Given the description of an element on the screen output the (x, y) to click on. 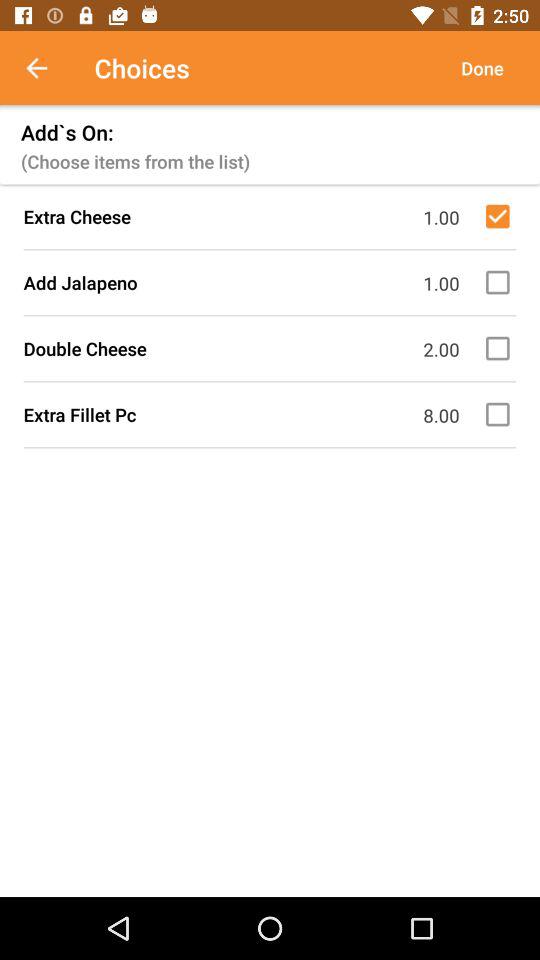
launch icon next to choices icon (47, 68)
